Given the description of an element on the screen output the (x, y) to click on. 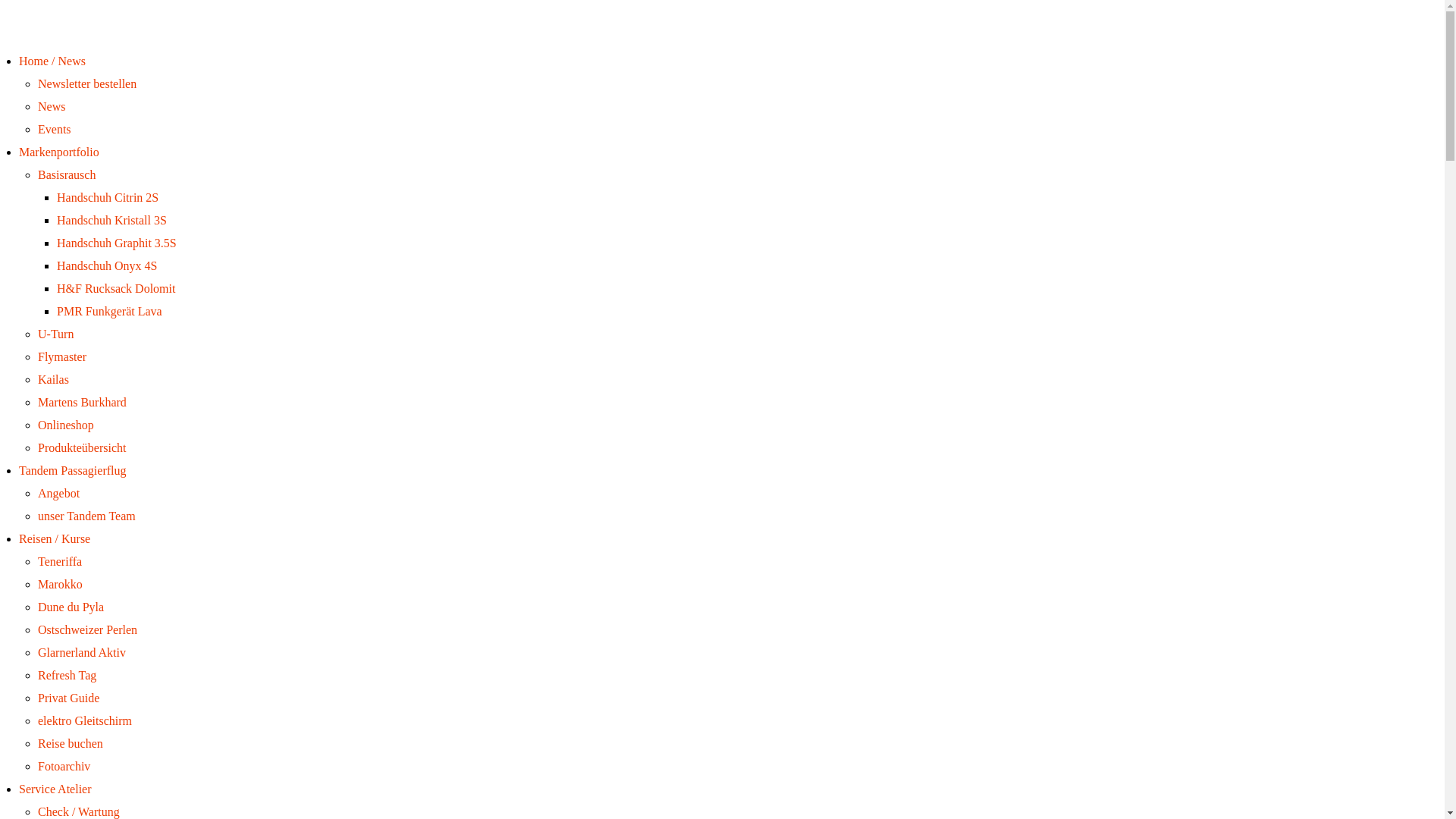
Martens Burkhard Element type: text (81, 401)
Markenportfolio Element type: text (58, 151)
Kailas Element type: text (53, 379)
Flymaster Element type: text (61, 356)
Service Atelier Element type: text (54, 788)
Check / Wartung Element type: text (78, 811)
Dune du Pyla Element type: text (70, 606)
Glarnerland Aktiv Element type: text (81, 652)
Handschuh Onyx 4S Element type: text (106, 265)
Newsletter bestellen Element type: text (86, 83)
Events Element type: text (54, 128)
Handschuh Kristall 3S Element type: text (111, 219)
Basisrausch Element type: text (66, 174)
Refresh Tag Element type: text (66, 674)
Angebot Element type: text (58, 492)
Marokko Element type: text (59, 583)
Fotoarchiv Element type: text (63, 765)
Onlineshop Element type: text (65, 424)
Home / News Element type: text (51, 60)
U-Turn Element type: text (55, 333)
Teneriffa Element type: text (59, 561)
Reisen / Kurse Element type: text (54, 538)
unser Tandem Team Element type: text (86, 515)
Ostschweizer Perlen Element type: text (87, 629)
Tandem Passagierflug Element type: text (72, 470)
Reise buchen Element type: text (70, 743)
elektro Gleitschirm Element type: text (84, 720)
Handschuh Citrin 2S Element type: text (107, 197)
H&F Rucksack Dolomit Element type: text (115, 288)
Handschuh Graphit 3.5S Element type: text (116, 242)
News Element type: text (51, 106)
Privat Guide Element type: text (68, 697)
